Given the description of an element on the screen output the (x, y) to click on. 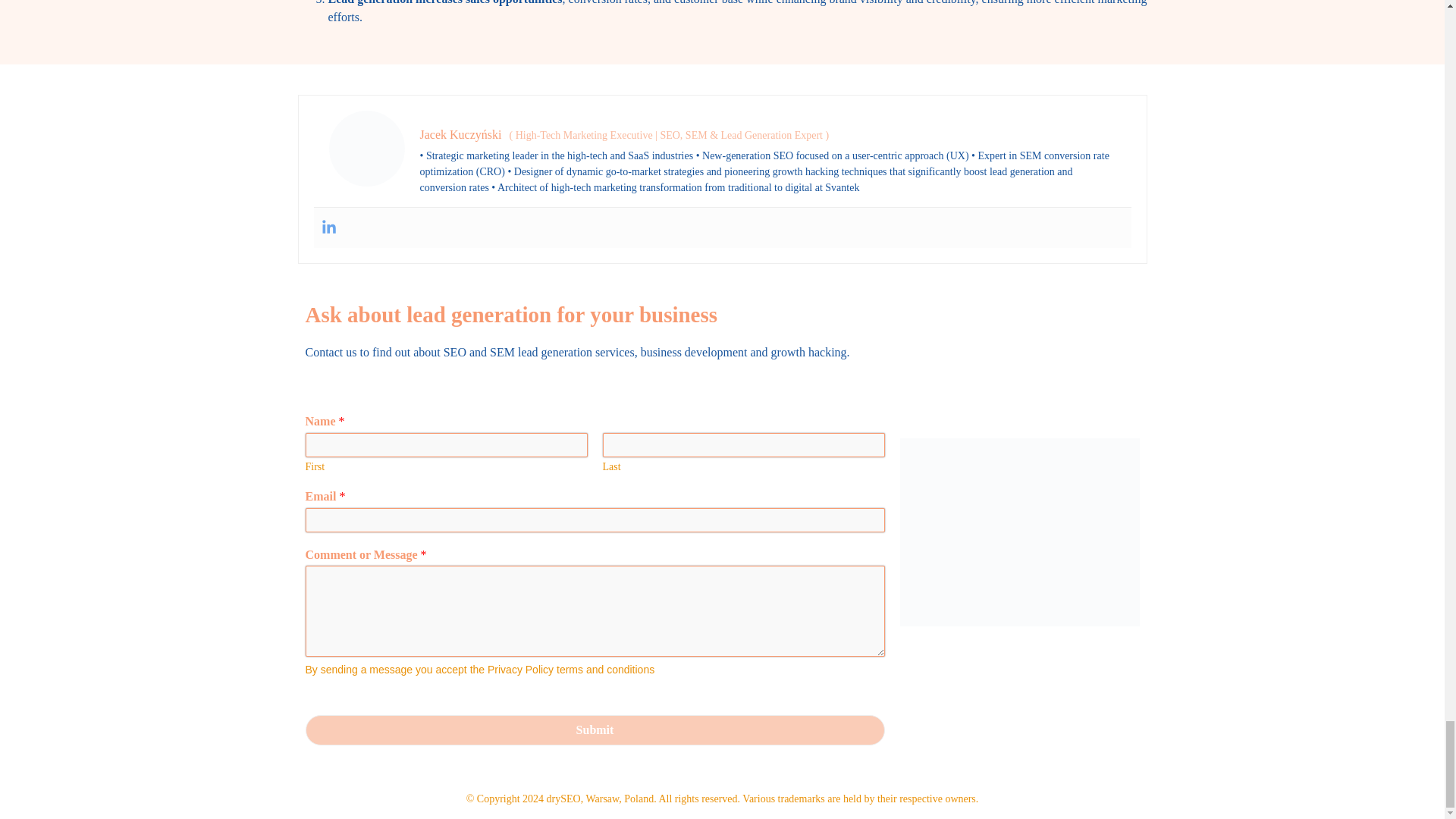
Submit (593, 729)
Linkedin (328, 227)
